Given the description of an element on the screen output the (x, y) to click on. 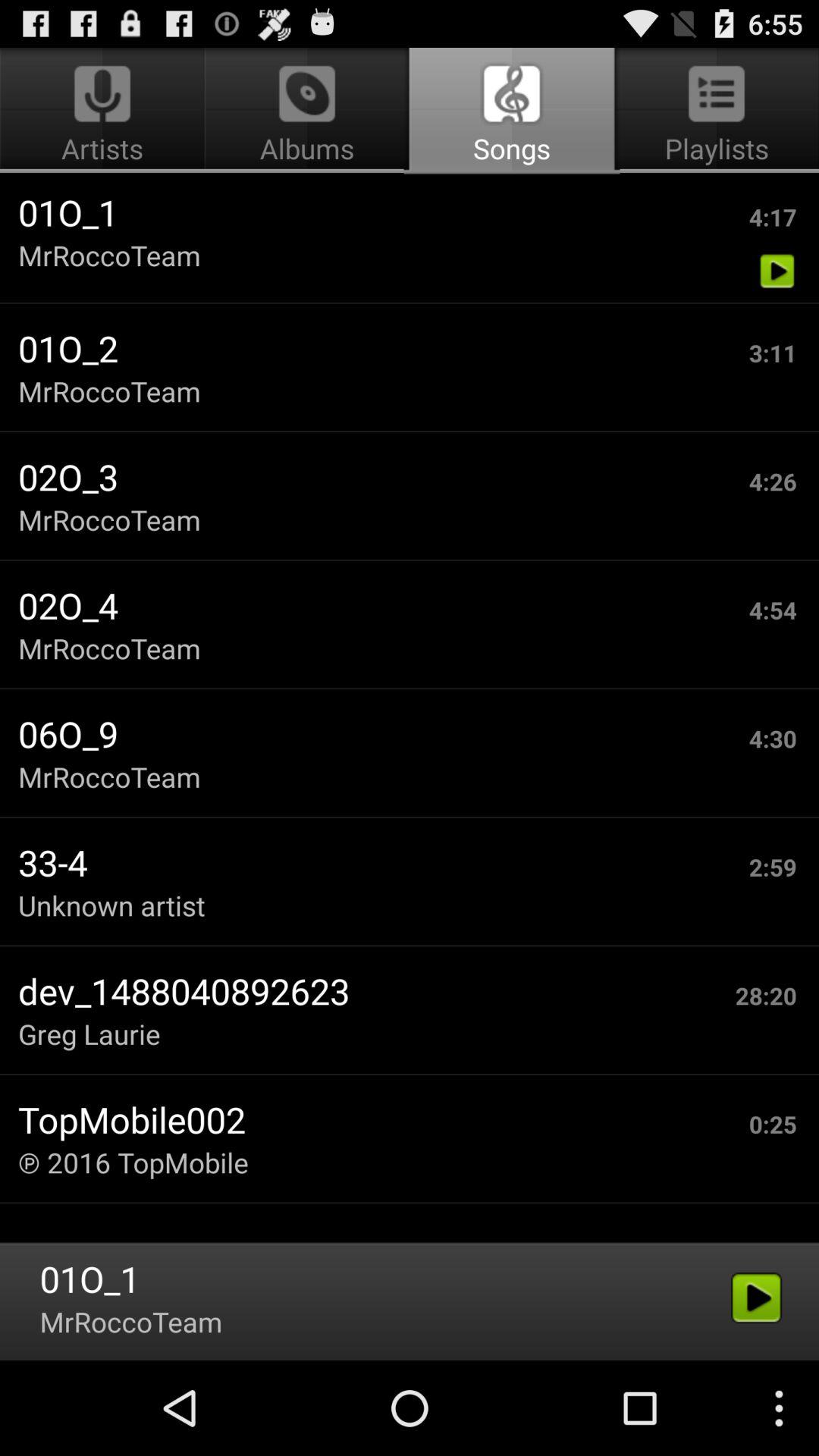
turn on item above 01o_1 item (105, 111)
